Given the description of an element on the screen output the (x, y) to click on. 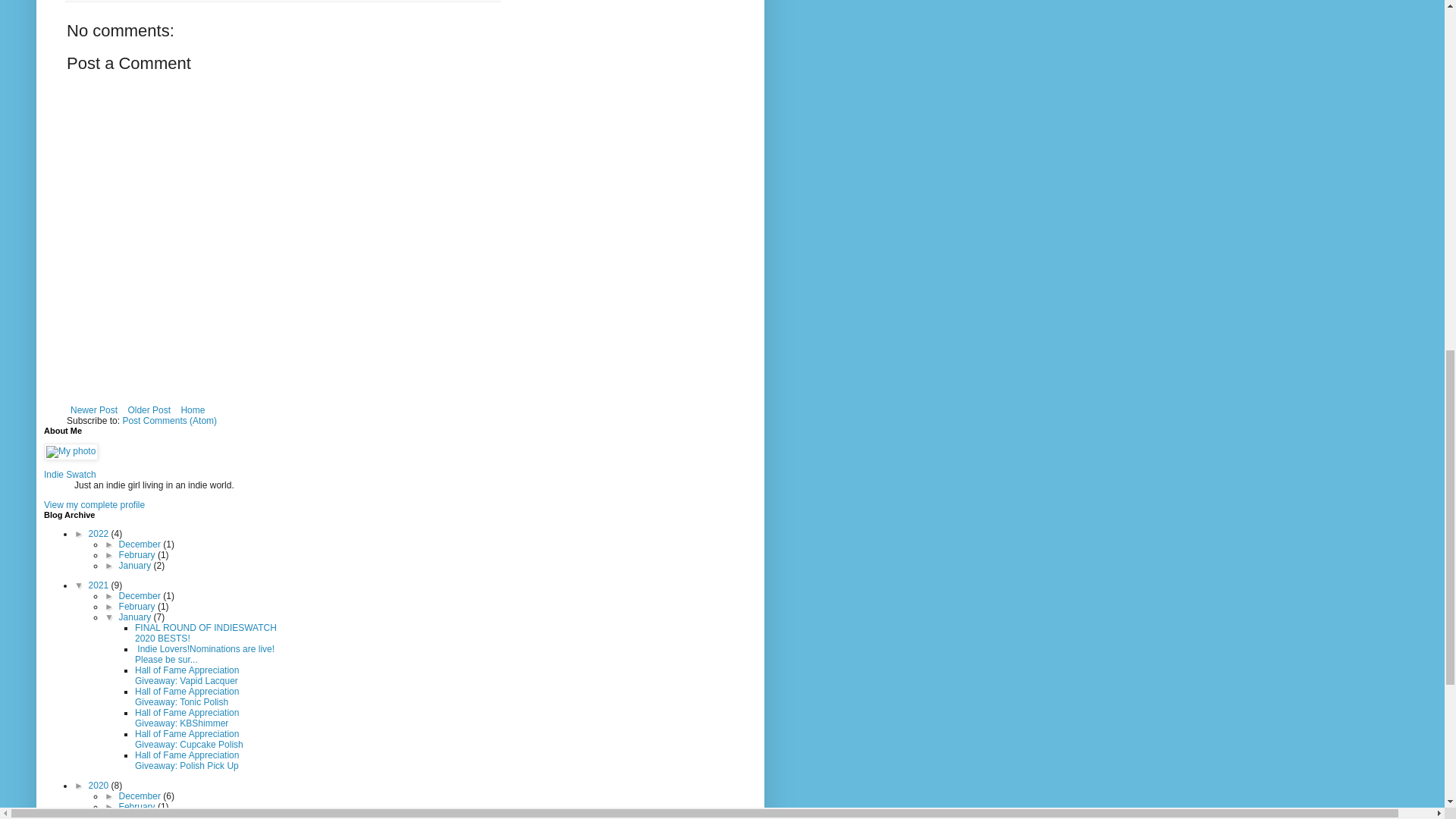
December (141, 543)
Older Post (148, 410)
2022 (100, 533)
Older Post (148, 410)
February (138, 554)
View my complete profile (93, 504)
2021 (100, 584)
December (141, 595)
Newer Post (93, 410)
Newer Post (93, 410)
Home (192, 410)
January (136, 565)
Indie Swatch (69, 474)
